Given the description of an element on the screen output the (x, y) to click on. 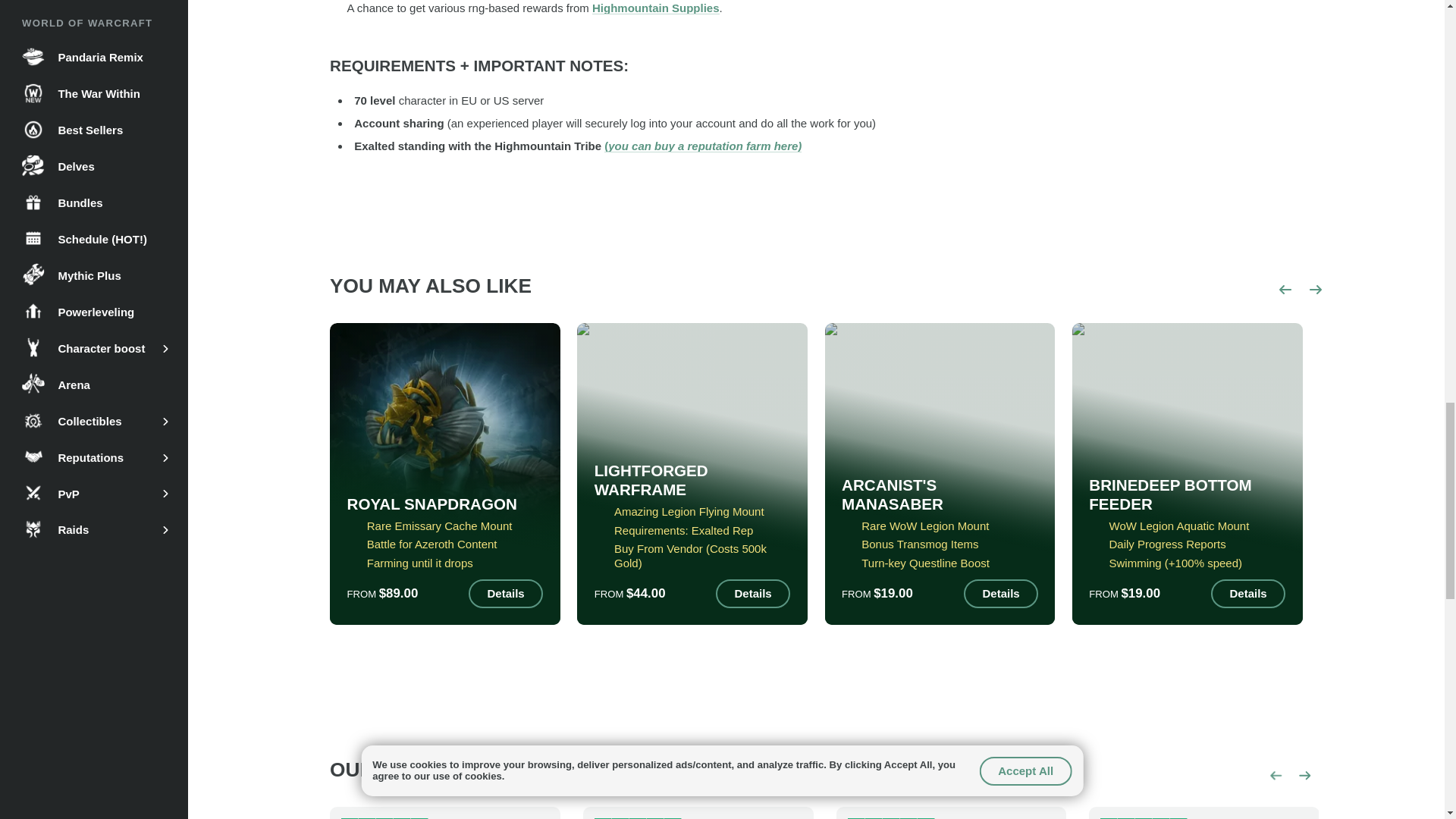
ARCANIST'S MANASABER (939, 494)
ROYAL SNAPDRAGON (431, 504)
Details (1000, 593)
Details (753, 593)
Highmountain Supplies (655, 7)
Details (505, 593)
BRINEDEEP BOTTOM FEEDER (1187, 494)
LIGHTFORGED WARFRAME (692, 480)
